Given the description of an element on the screen output the (x, y) to click on. 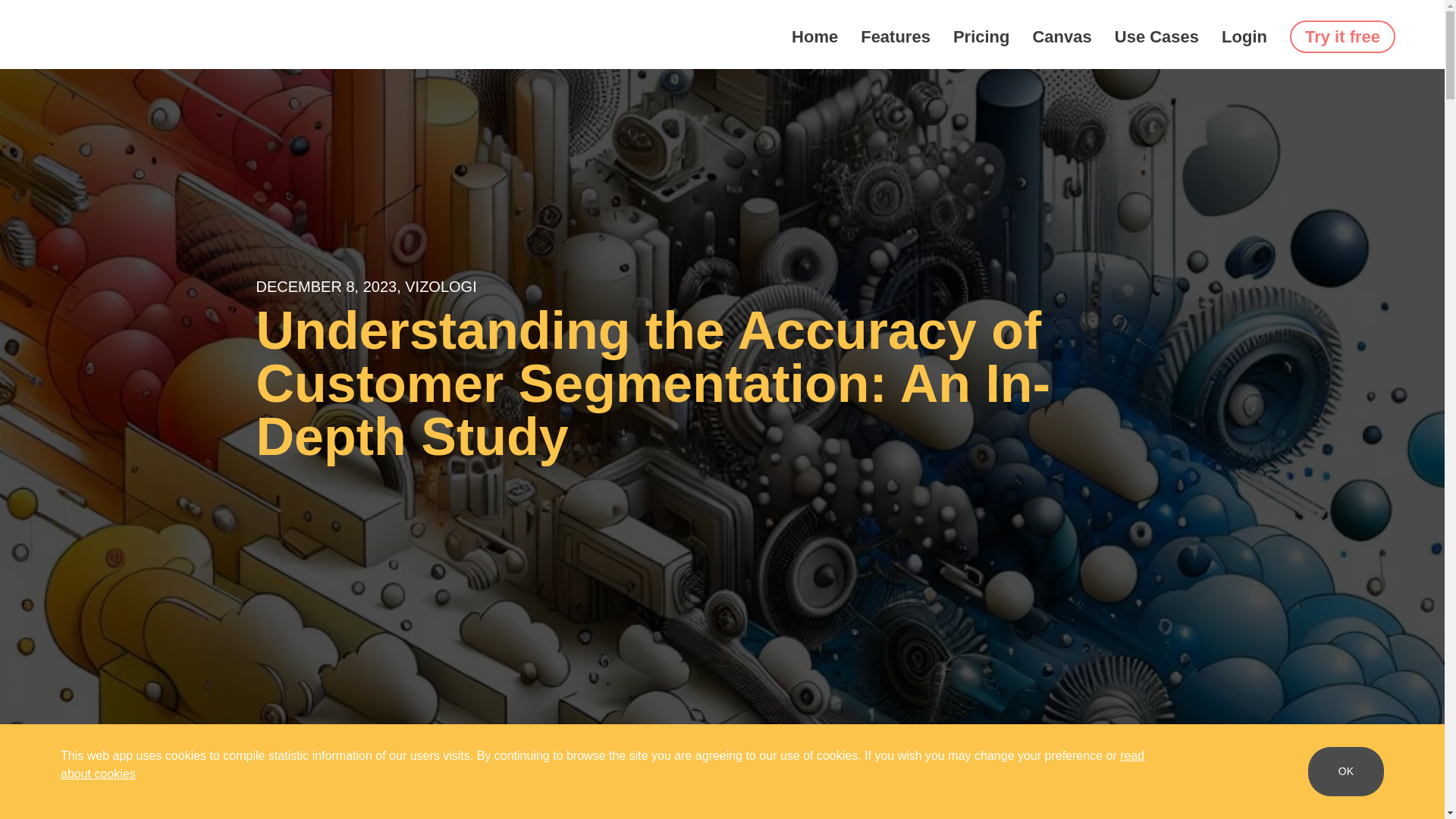
read about cookies (602, 764)
Use Cases (1156, 36)
Home (815, 36)
Features (895, 36)
Try it free (1342, 36)
OK (1345, 771)
Pricing (981, 36)
Consumer behavior analysis (113, 772)
Login (1243, 36)
Canvas (1061, 36)
